Given the description of an element on the screen output the (x, y) to click on. 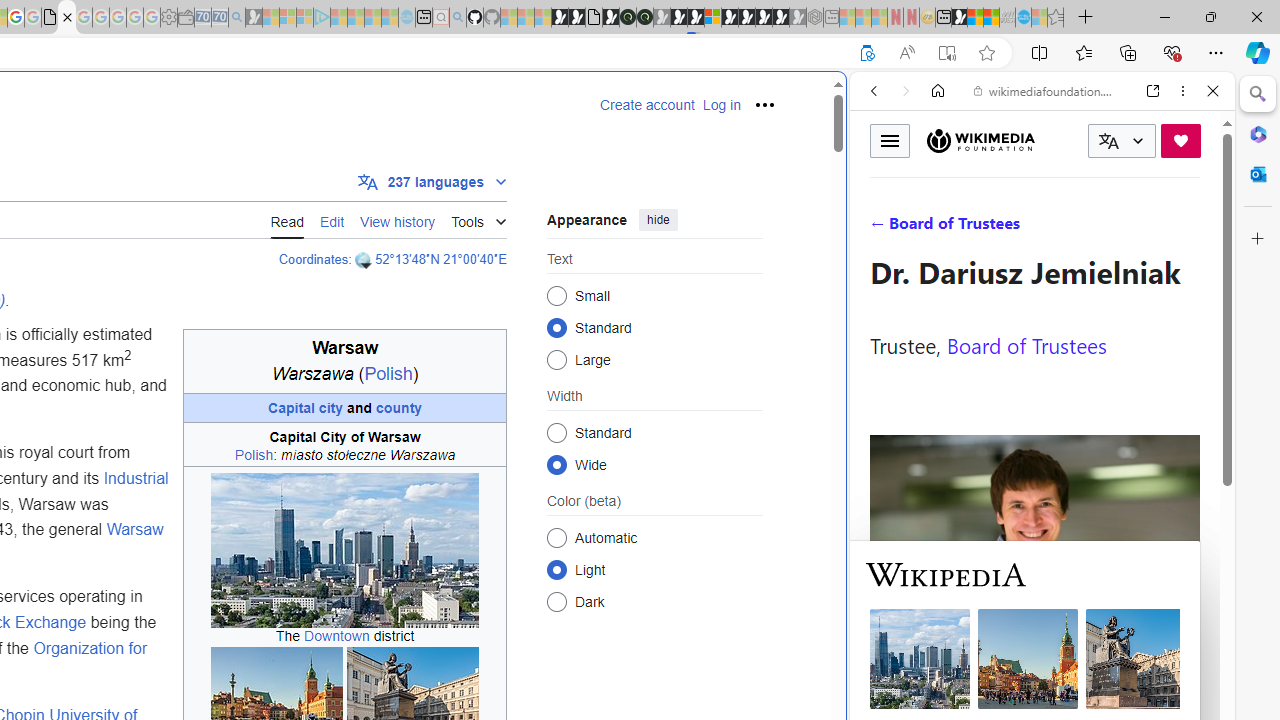
Donate now (1180, 140)
Wikimedia Foundation (980, 141)
Show location on an interactive map (365, 260)
Warsaw - Wikipedia (66, 17)
Frequently visited (418, 265)
wikimediafoundation.org (1045, 90)
Support Wikipedia? (867, 53)
